Given the description of an element on the screen output the (x, y) to click on. 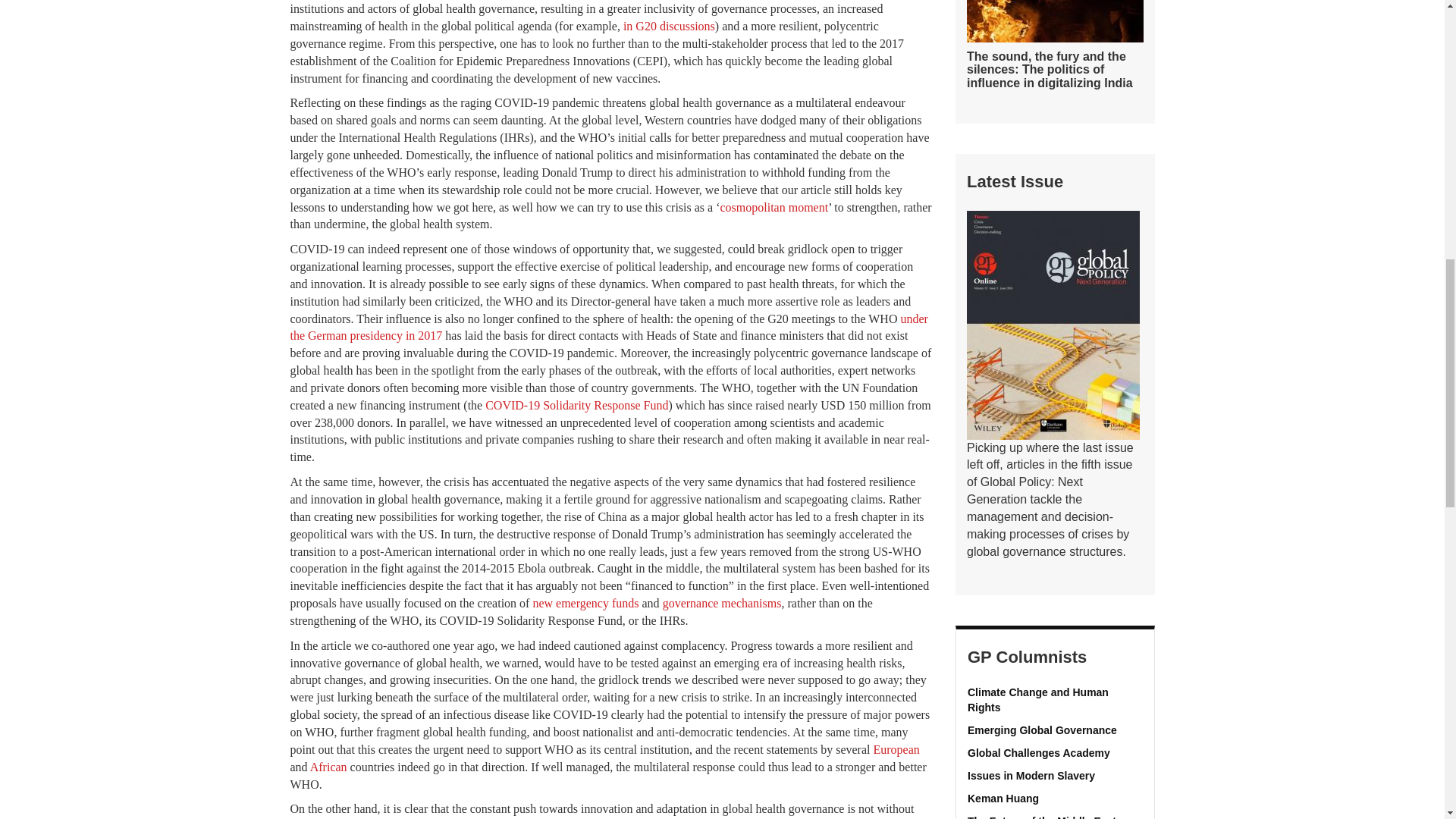
View user profile. (1055, 776)
View user profile. (1055, 730)
Vol 15, Issue 3, July 2024 (1053, 324)
View user profile. (1055, 700)
View user profile. (1055, 753)
